Given the description of an element on the screen output the (x, y) to click on. 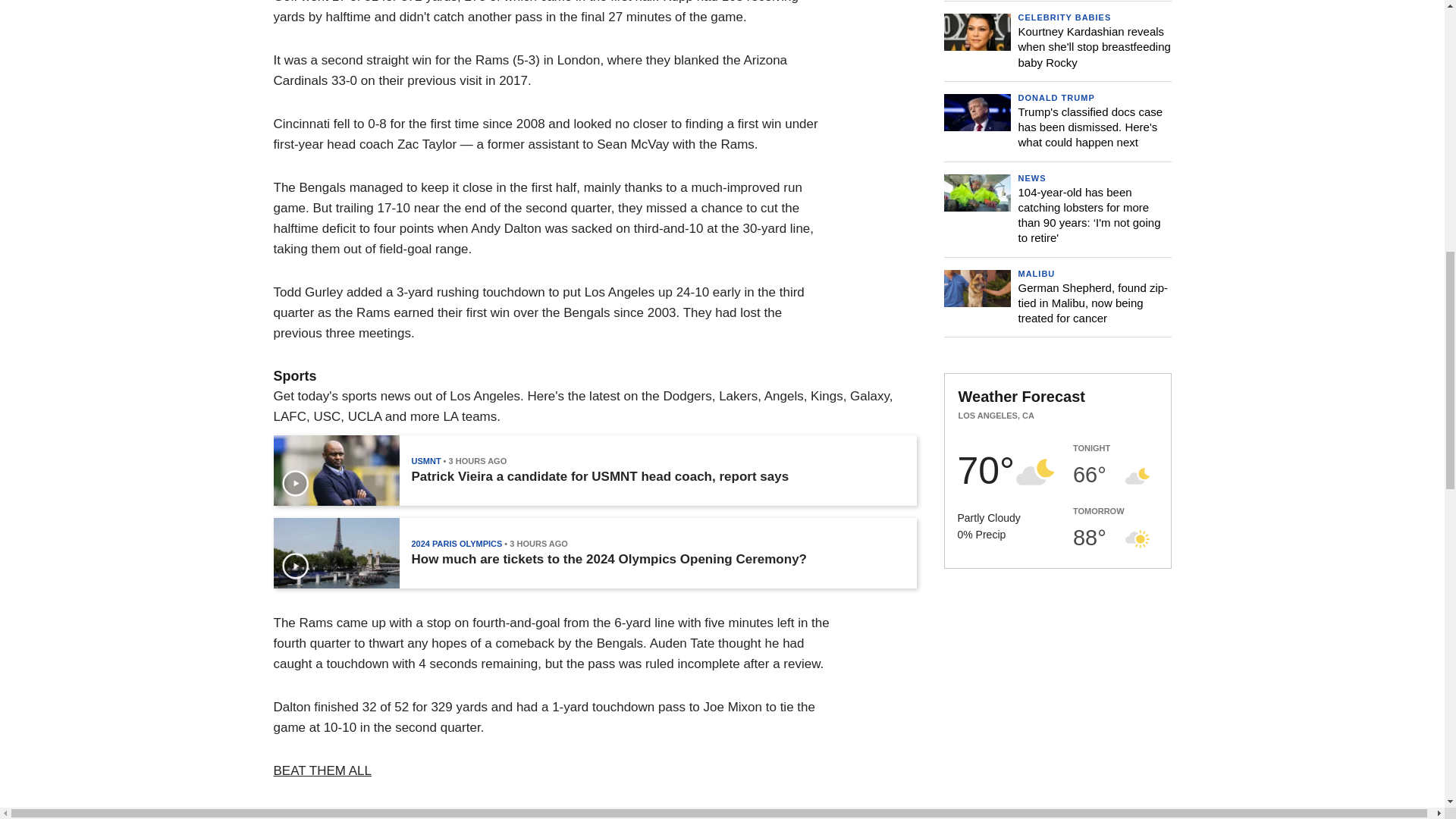
2024 PARIS OLYMPICS (456, 542)
Patrick Vieira a candidate for USMNT head coach, report says (599, 476)
How much are tickets to the 2024 Olympics Opening Ceremony? (608, 559)
USMNT (425, 461)
